Given the description of an element on the screen output the (x, y) to click on. 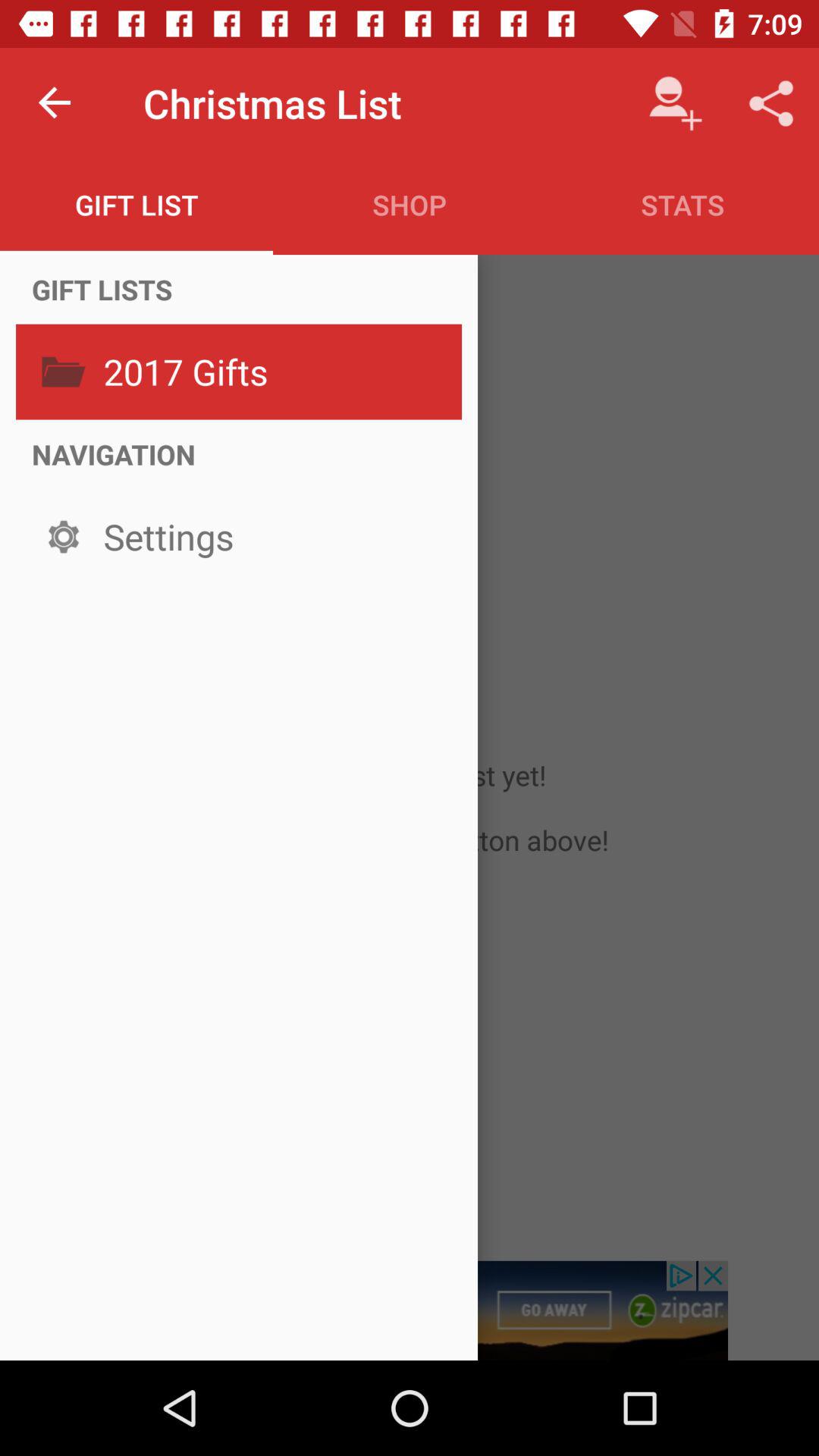
choose the item next to christmas list icon (55, 103)
